Given the description of an element on the screen output the (x, y) to click on. 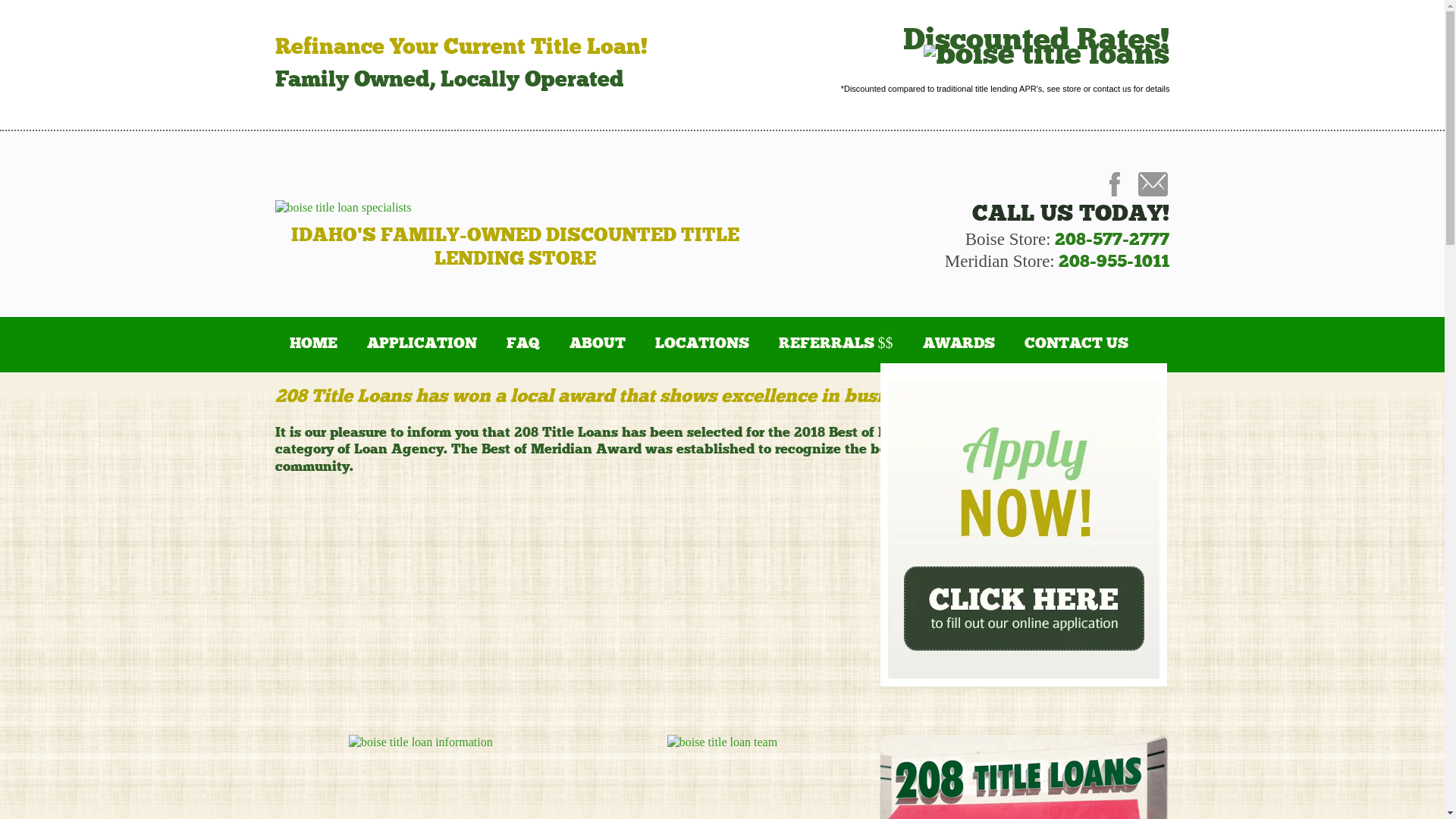
REFERRALS $$ Element type: text (836, 344)
ABOUT Element type: text (597, 344)
CONTACT US Element type: text (1076, 344)
LOCATIONS Element type: text (701, 344)
208-955-1011 Element type: text (1113, 261)
208-577-2777 Element type: text (1111, 239)
AWARDS Element type: text (959, 344)
FAQ Element type: text (522, 344)
HOME Element type: text (312, 344)
APPLICATION Element type: text (421, 344)
